Given the description of an element on the screen output the (x, y) to click on. 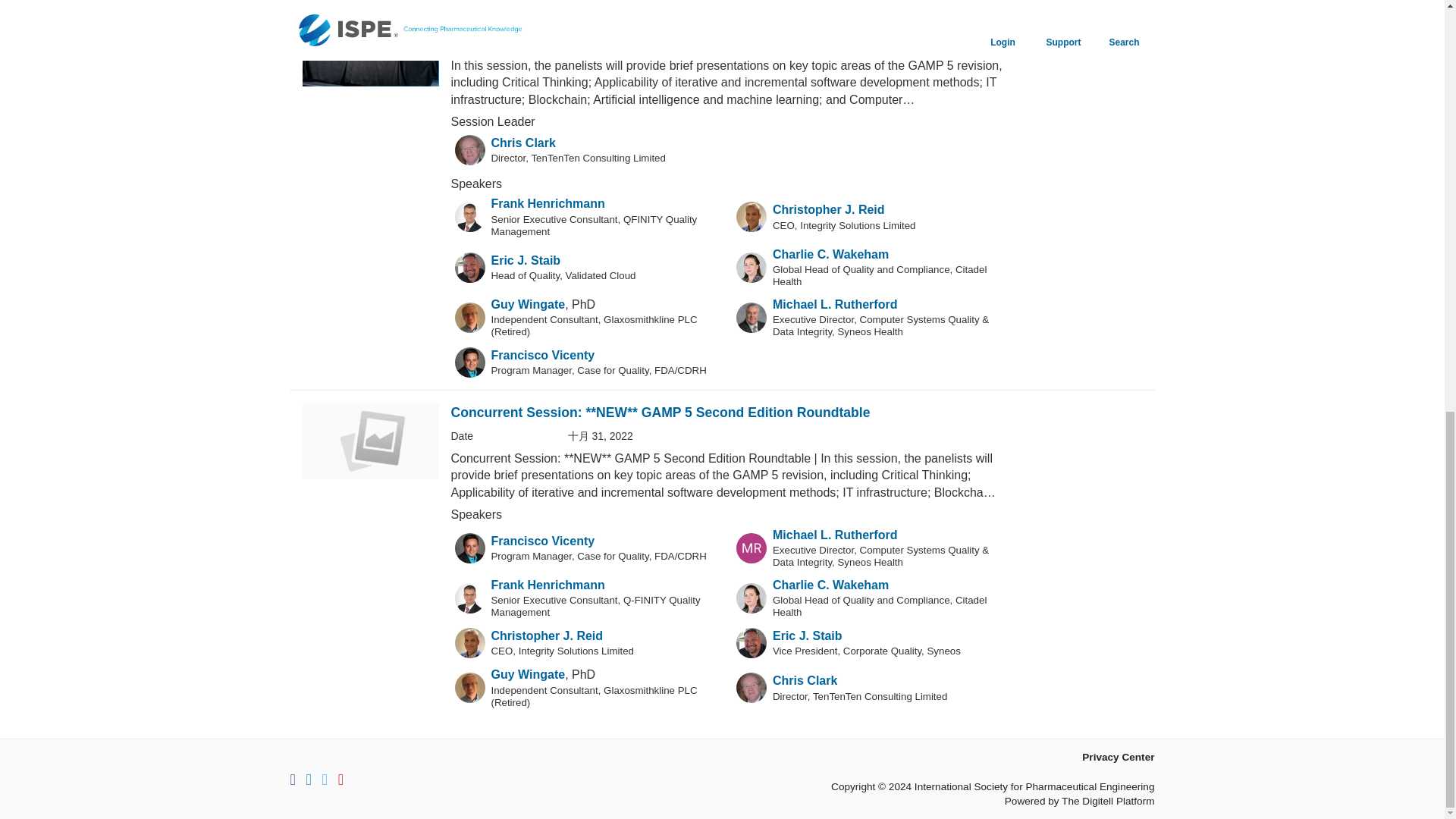
Frank Henrichmann (548, 584)
Speaker Image for Charlie Wakeham (751, 267)
Francisco Vicenty (543, 354)
Chris Clark (524, 142)
Speaker Image for Frank Henrichmann (469, 216)
Speaker Image for Chris Clark (469, 150)
Charlie C. Wakeham (830, 584)
Christopher J. Reid (548, 635)
Speaker Image for Guy Wingate (469, 317)
Frank Henrichmann (548, 203)
Speaker Image for Christopher Reid (751, 216)
Speaker Image for Eric Staib (469, 267)
Francisco Vicenty (543, 540)
Speaker Image for Michael Rutherford (751, 317)
Charlie C. Wakeham (830, 254)
